Given the description of an element on the screen output the (x, y) to click on. 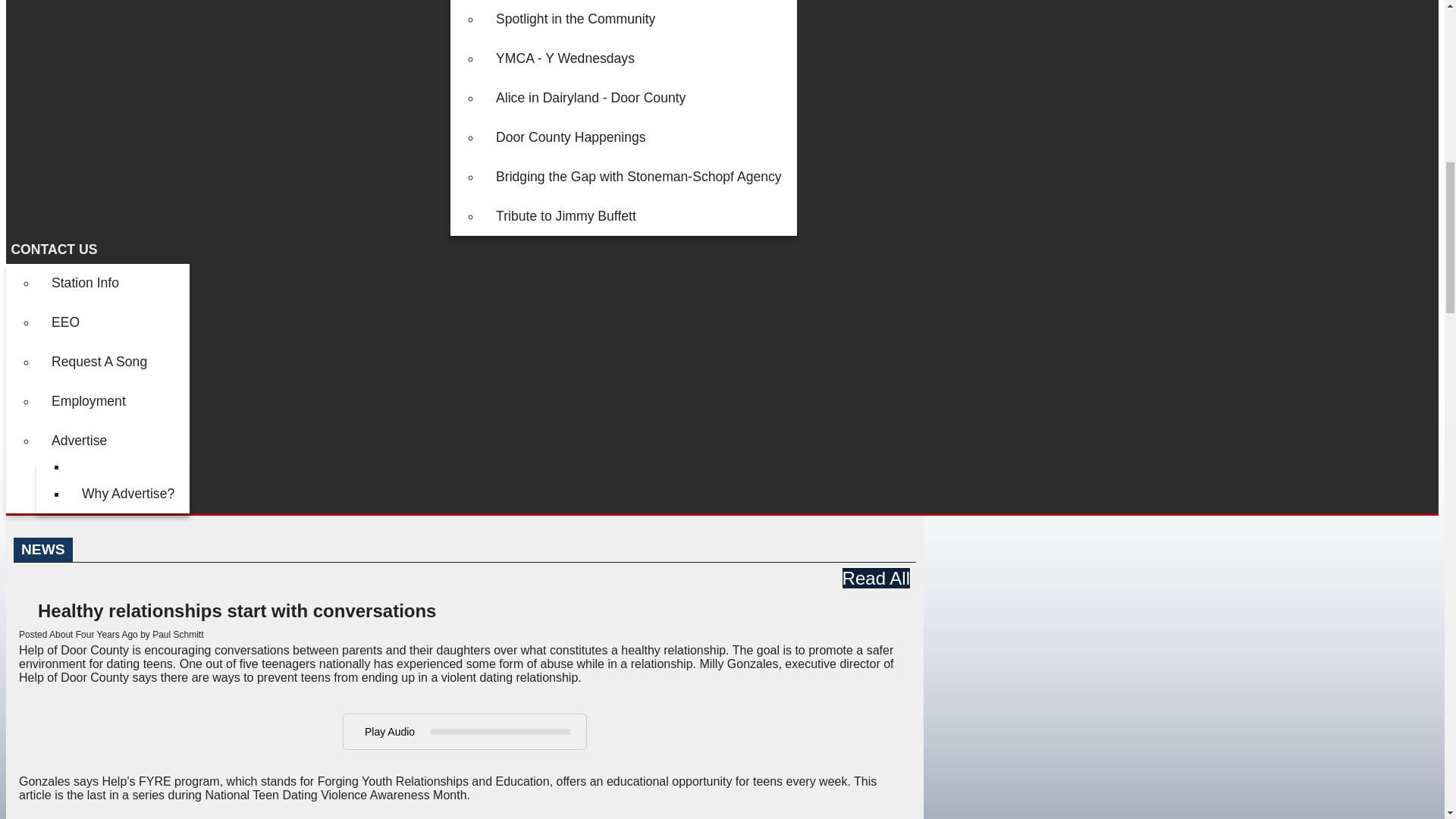
Spotlight in the Community (638, 19)
YMCA - Y Wednesdays (638, 58)
Alice in Dairyland - Door County (638, 97)
Door County Happenings (638, 137)
Tribute to Jimmy Buffett (638, 216)
Read All (876, 577)
Bridging the Gap with Stoneman-Schopf Agency (638, 177)
